Given the description of an element on the screen output the (x, y) to click on. 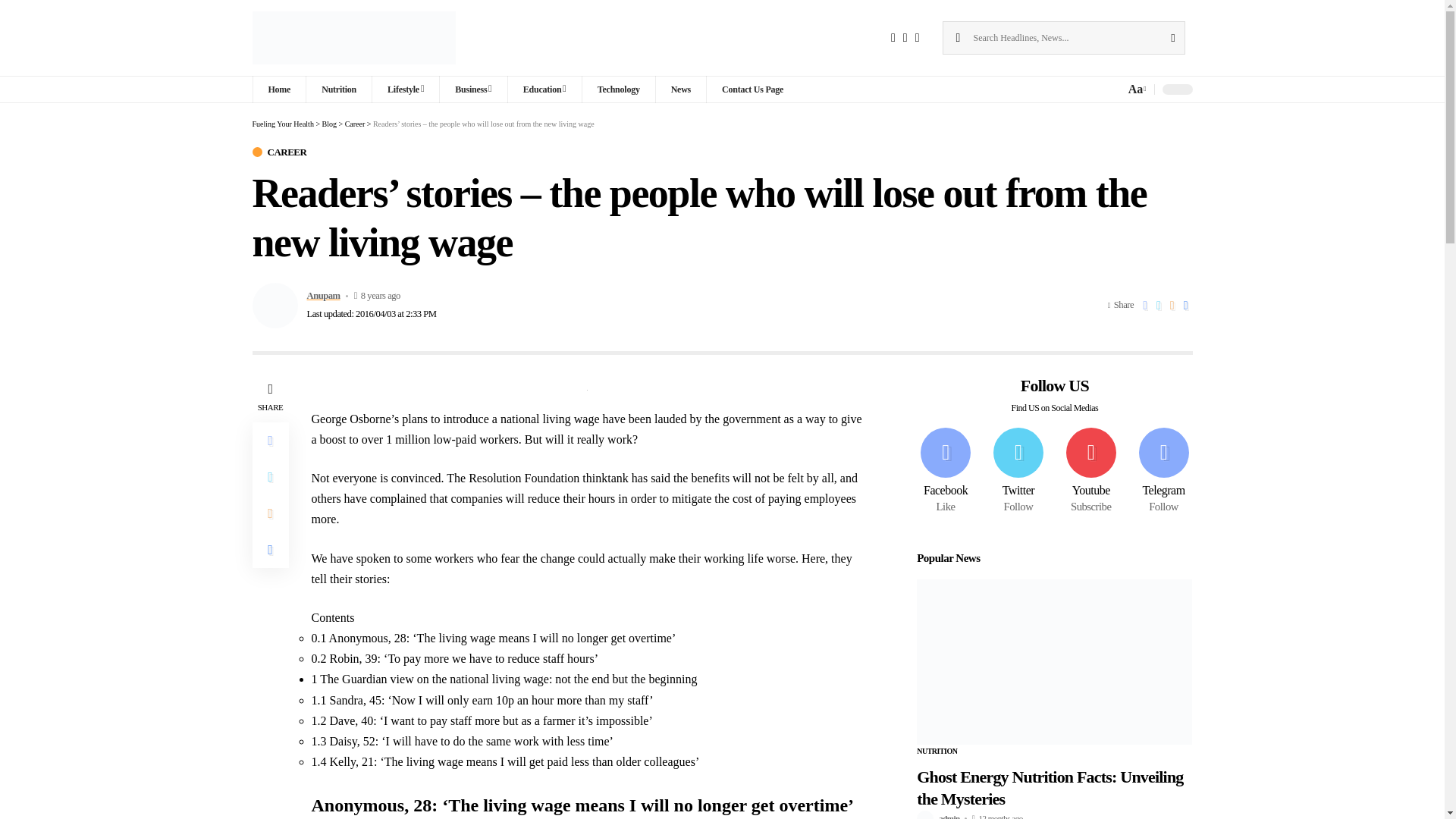
Twitter (1017, 471)
Aa (1135, 88)
Search (1172, 37)
Business (472, 89)
Fueling Your Health (353, 37)
Nutrition (338, 89)
Contact Us Page (751, 89)
Go to Blog. (328, 123)
Go to the Career Category archives. (355, 123)
Telegram (1162, 471)
Ghost Energy Nutrition Facts: Unveiling the Mysteries (1054, 661)
Technology (617, 89)
Youtube (1090, 471)
News (680, 89)
Education (543, 89)
